Given the description of an element on the screen output the (x, y) to click on. 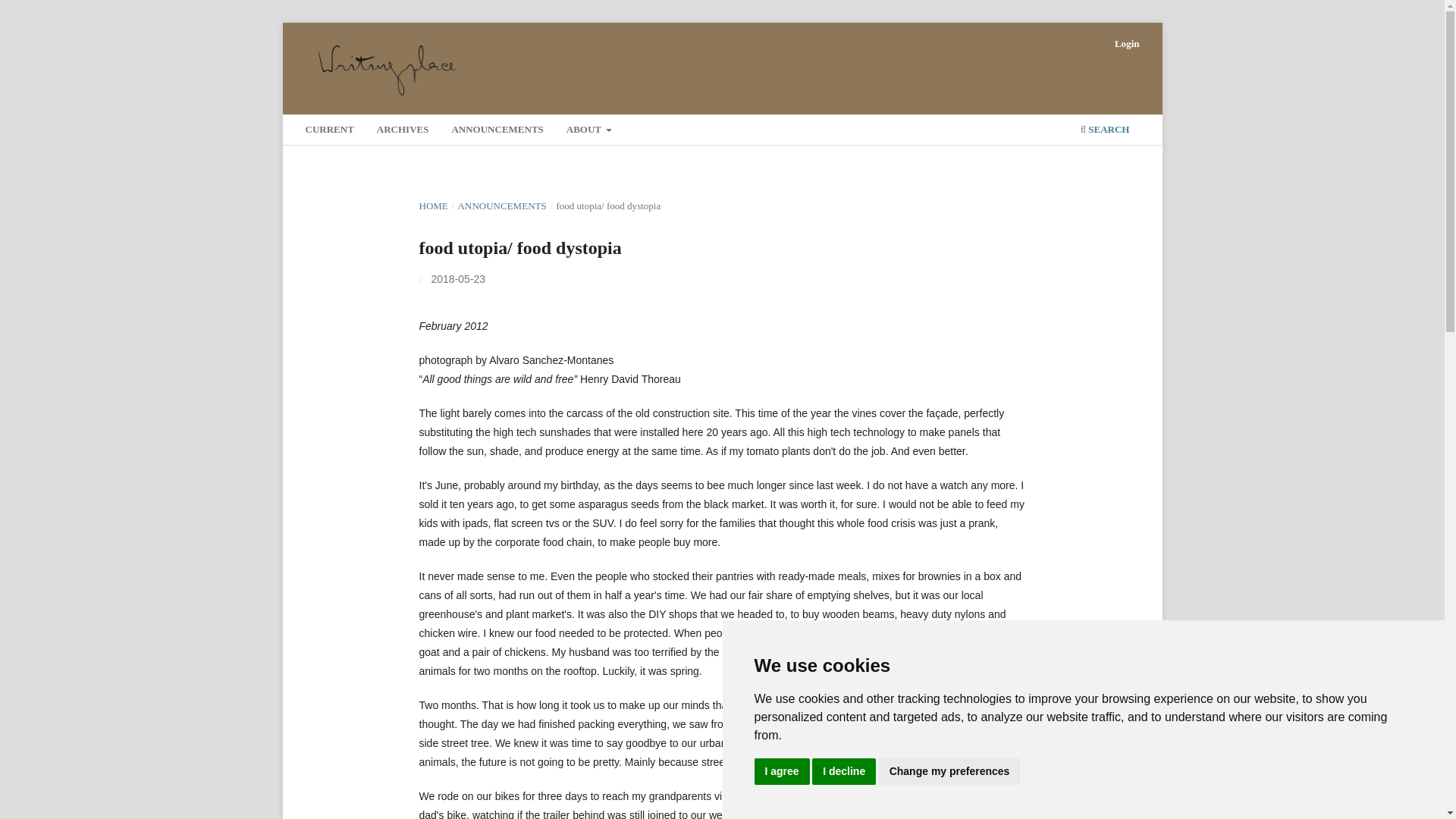
I decline (844, 771)
I agree (781, 771)
Login (1126, 43)
CURRENT (328, 130)
Change my preferences (949, 771)
ANNOUNCEMENTS (497, 130)
ANNOUNCEMENTS (502, 206)
HOME (432, 206)
ABOUT (588, 130)
SEARCH (1104, 130)
